Given the description of an element on the screen output the (x, y) to click on. 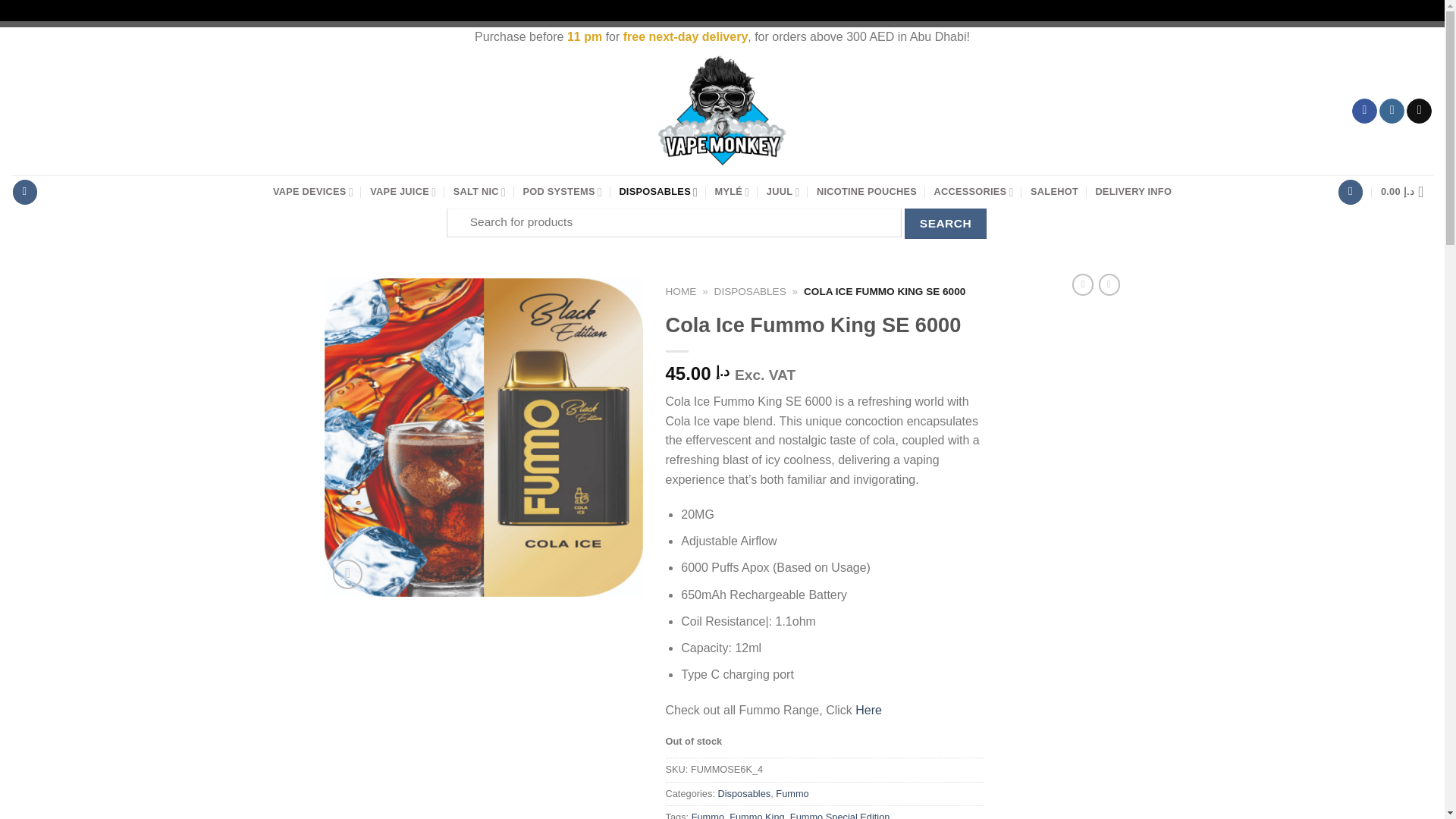
Cart (1406, 191)
POD SYSTEMS (562, 191)
Follow on Facebook (1364, 111)
Send us an email (1418, 111)
VAPE JUICE (402, 191)
Follow on Instagram (1391, 111)
Search (945, 223)
VAPE DEVICES (313, 191)
SALT NIC (478, 191)
